Given the description of an element on the screen output the (x, y) to click on. 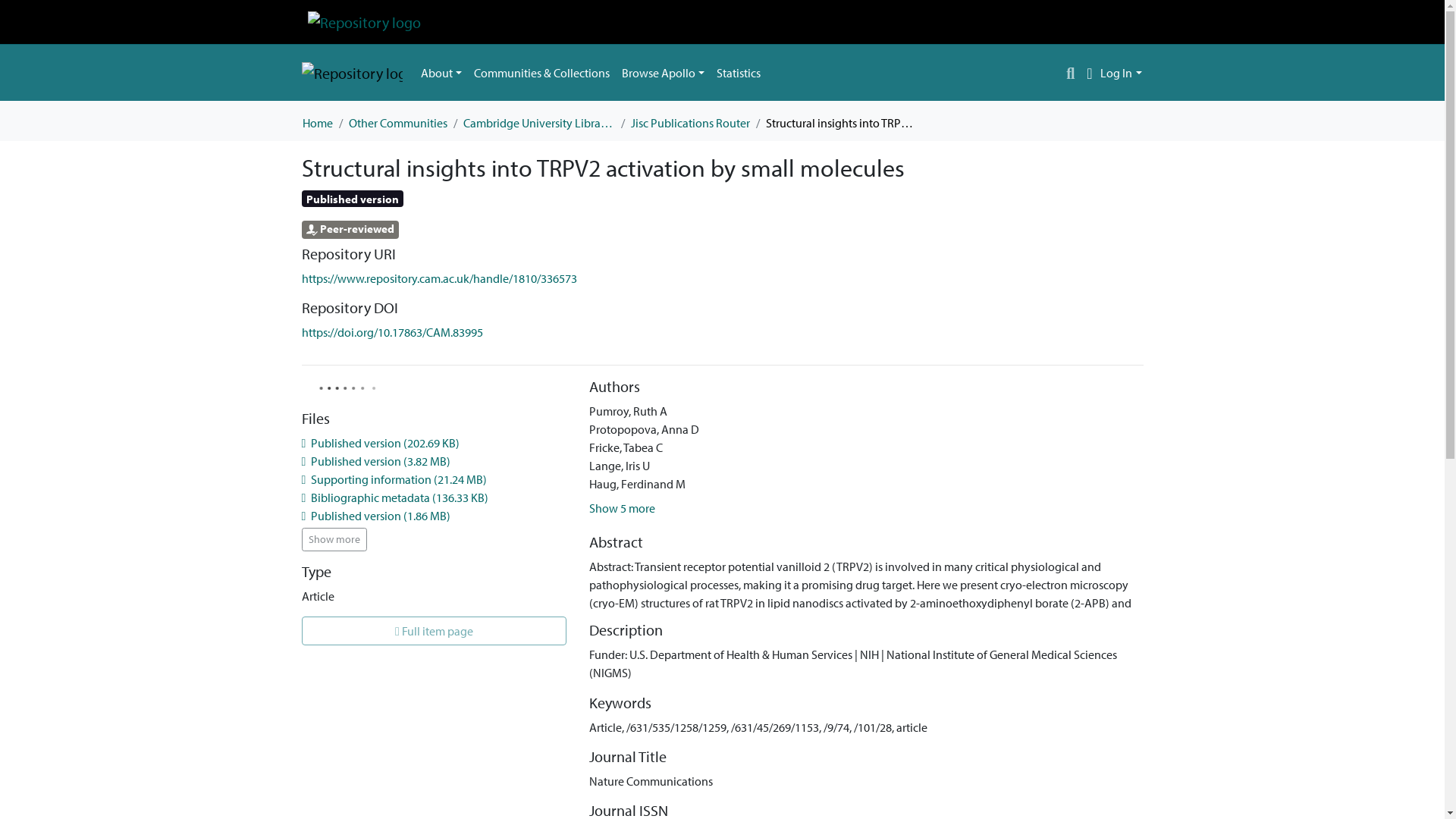
Show 5 more (622, 507)
Statistics (738, 72)
About (440, 72)
Log In (1120, 72)
Jisc Publications Router (689, 122)
Browse Apollo (662, 72)
Show more (333, 539)
Other Communities (397, 122)
Statistics (738, 72)
Search (1070, 72)
Language switch (1089, 72)
Home (316, 122)
Full item page (434, 630)
Cambridge University Libraries (538, 122)
